Given the description of an element on the screen output the (x, y) to click on. 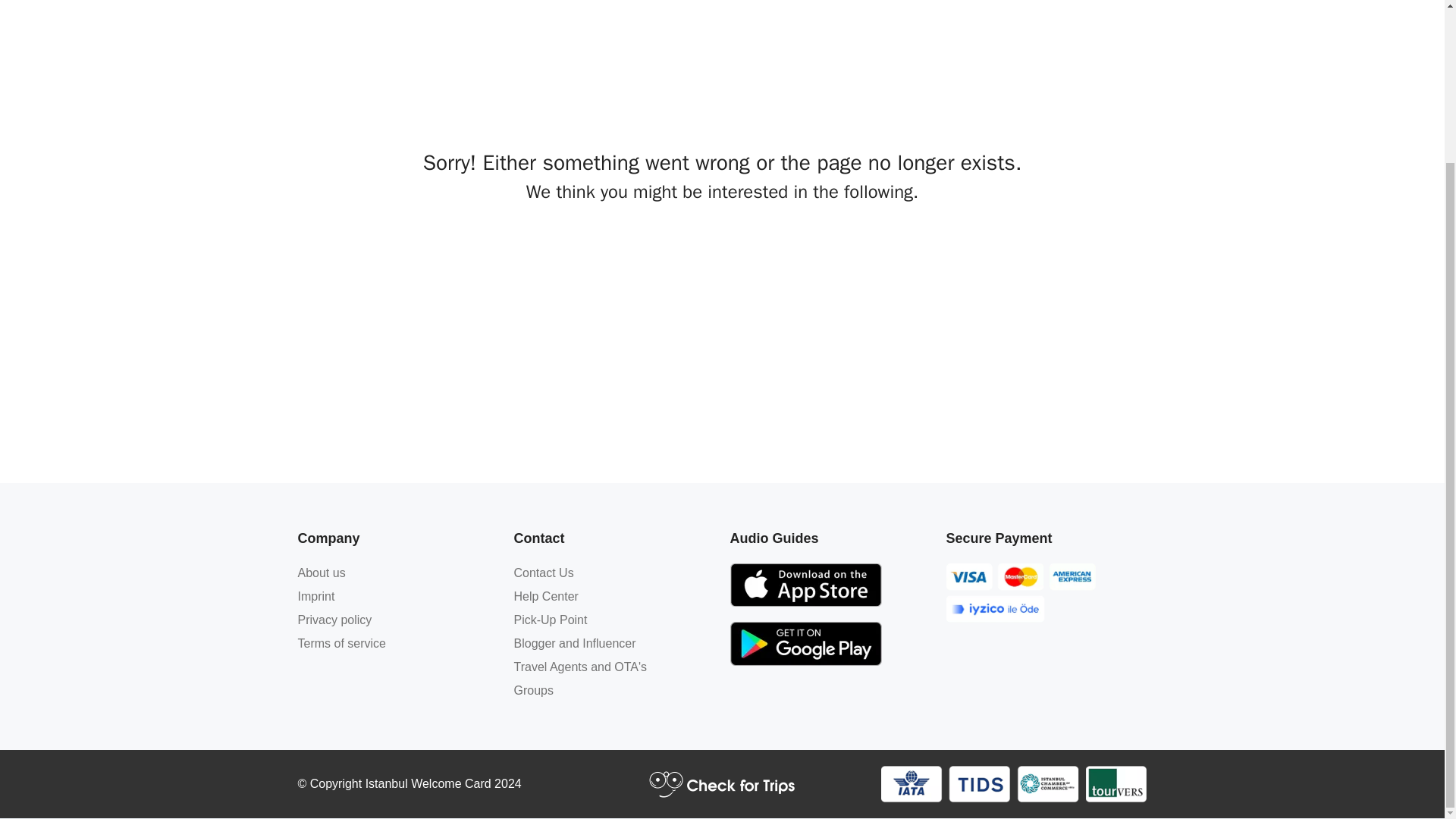
Our Members (1013, 783)
Privacy policy (334, 619)
Terms of service (341, 643)
Travel Agents and OTA's (580, 666)
Imprint (315, 595)
Blogger and Influencer (574, 643)
About Us (321, 572)
Groups (533, 689)
Groups (533, 689)
Blogger and Influencer (574, 643)
About us (321, 572)
Help Center (545, 595)
Pick-Up Point (550, 619)
Terms of service (341, 643)
App Store (804, 584)
